Given the description of an element on the screen output the (x, y) to click on. 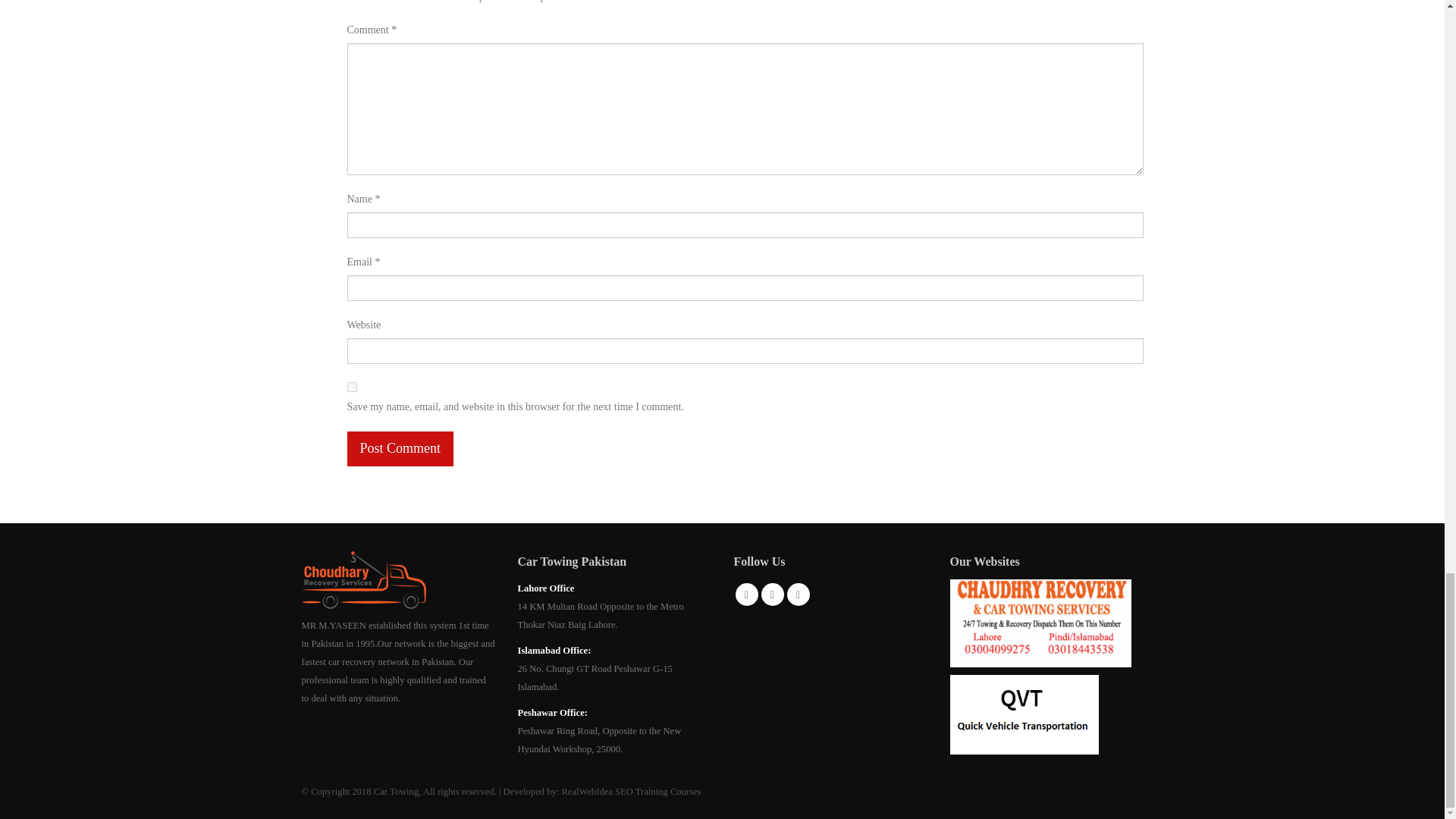
Linkedin (798, 594)
Twitter (772, 594)
Post Comment (399, 448)
Facebook (746, 594)
Post Comment (399, 448)
yes (351, 387)
